Given the description of an element on the screen output the (x, y) to click on. 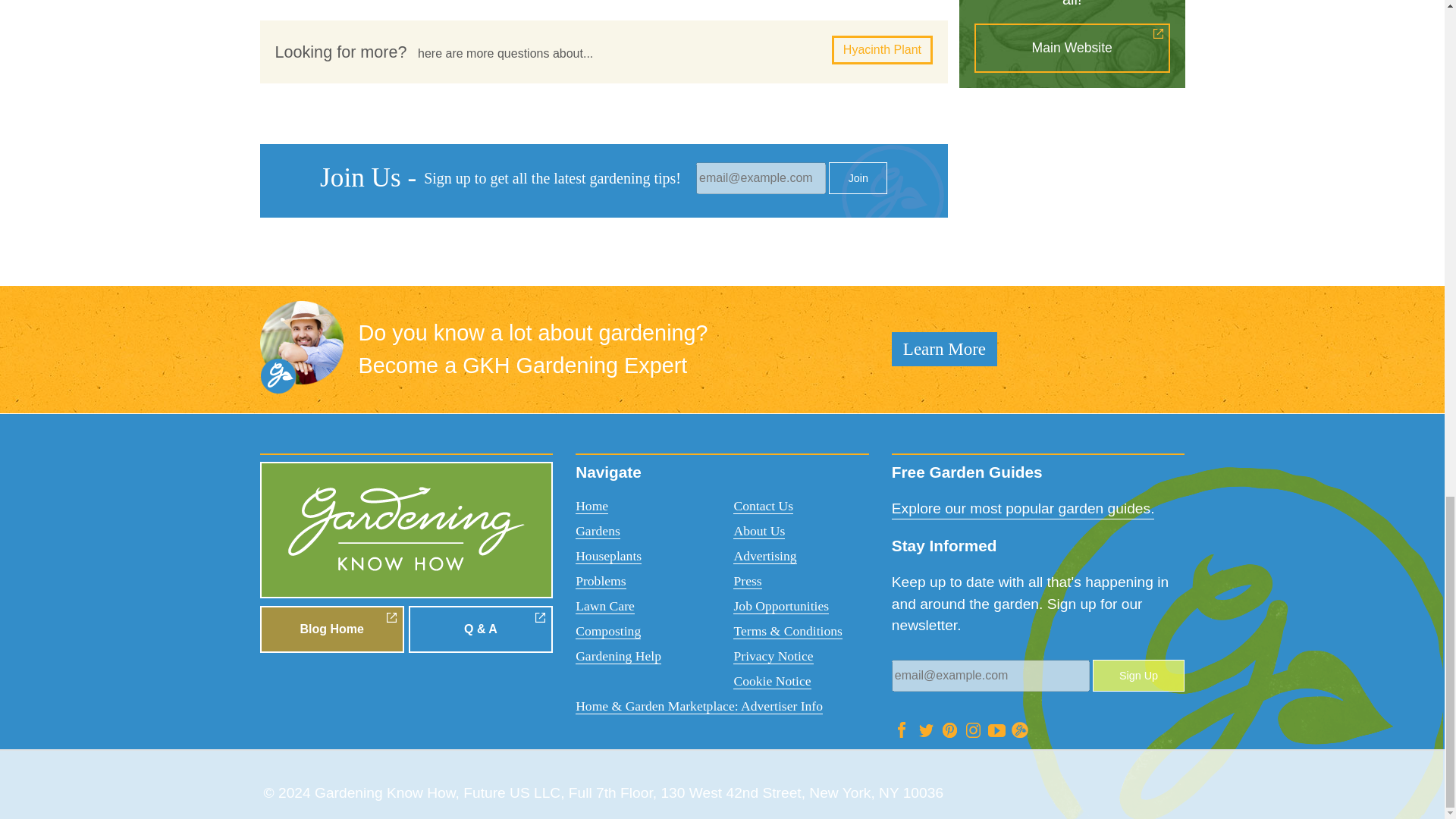
Join (857, 178)
Hyacinth Plant (882, 50)
